Given the description of an element on the screen output the (x, y) to click on. 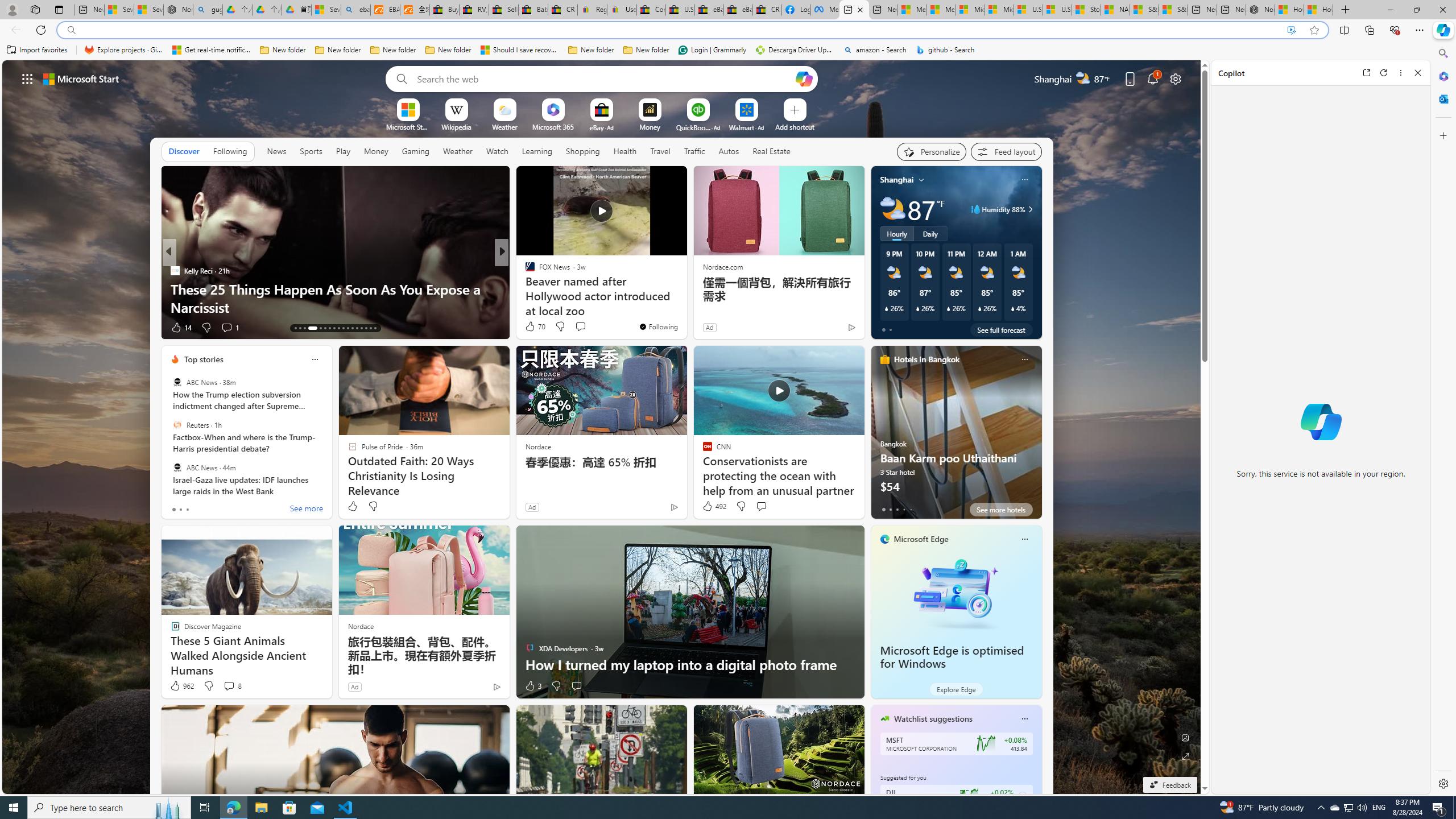
Microsoft Edge is optimised for Windows (952, 657)
View comments 123 Comment (583, 327)
Login | Grammarly (712, 49)
AutomationID: tab-35 (374, 328)
191 Like (532, 327)
Search icon (70, 29)
